Given the description of an element on the screen output the (x, y) to click on. 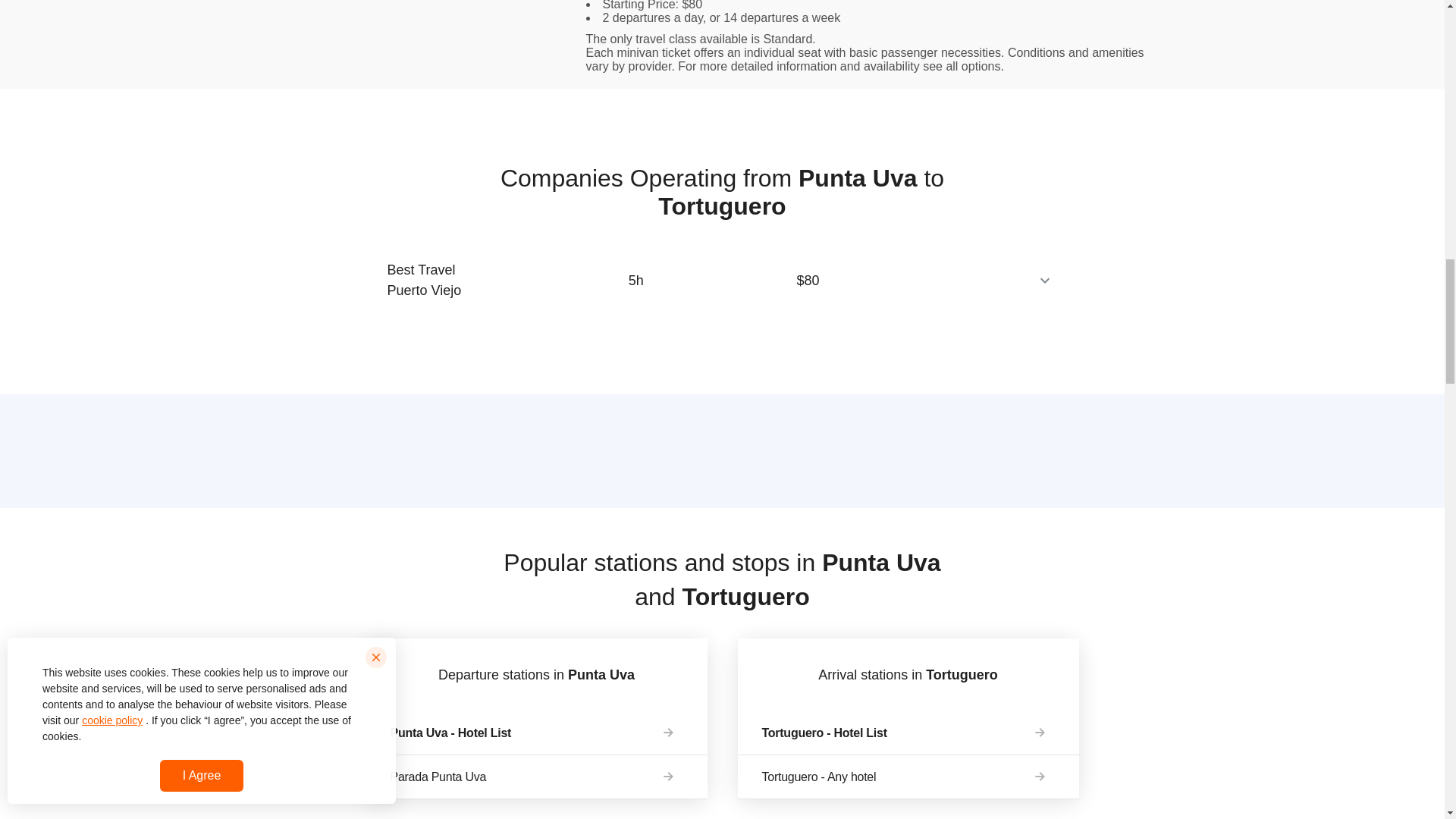
Best Travel Puerto Viejo (435, 280)
